Given the description of an element on the screen output the (x, y) to click on. 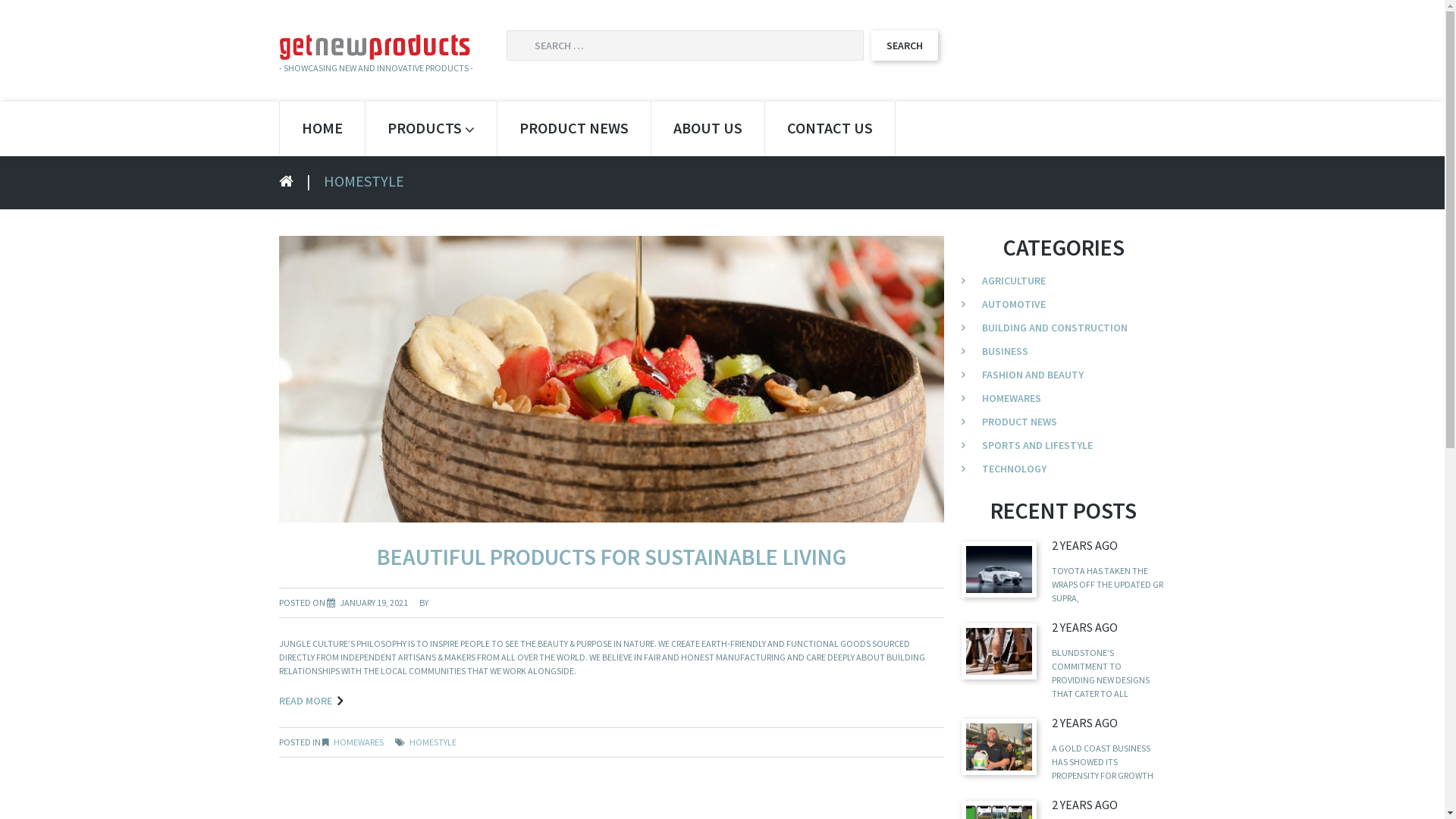
Toyota unveils updated GR Supra with manual gearbox Element type: hover (999, 569)
ABOUT US Element type: text (706, 127)
BUILDING AND CONSTRUCTION Element type: text (1054, 327)
HOMEWARES Element type: text (358, 741)
AUTOMOTIVE Element type: text (1013, 303)
Beautiful Products for Sustainable Living Element type: hover (611, 377)
TECHNOLOGY Element type: text (1014, 468)
SPORTS AND LIFESTYLE Element type: text (1037, 444)
The perfect crew boot Element type: hover (999, 650)
PRODUCT NEWS Element type: text (1019, 421)
HOMESTYLE Element type: text (432, 741)
BUSINESS Element type: text (1005, 350)
HOME Element type: text (321, 127)
HOMEWARES Element type: text (1011, 397)
PRODUCT NEWS Element type: text (573, 127)
PRODUCTS Element type: text (430, 128)
AGRICULTURE Element type: text (1013, 280)
FASHION AND BEAUTY Element type: text (1032, 374)
CONTACT US Element type: text (829, 127)
READ MORE Element type: text (310, 700)
BEAUTIFUL PRODUCTS FOR SUSTAINABLE LIVING Element type: text (611, 556)
Search Element type: text (903, 45)
